Given the description of an element on the screen output the (x, y) to click on. 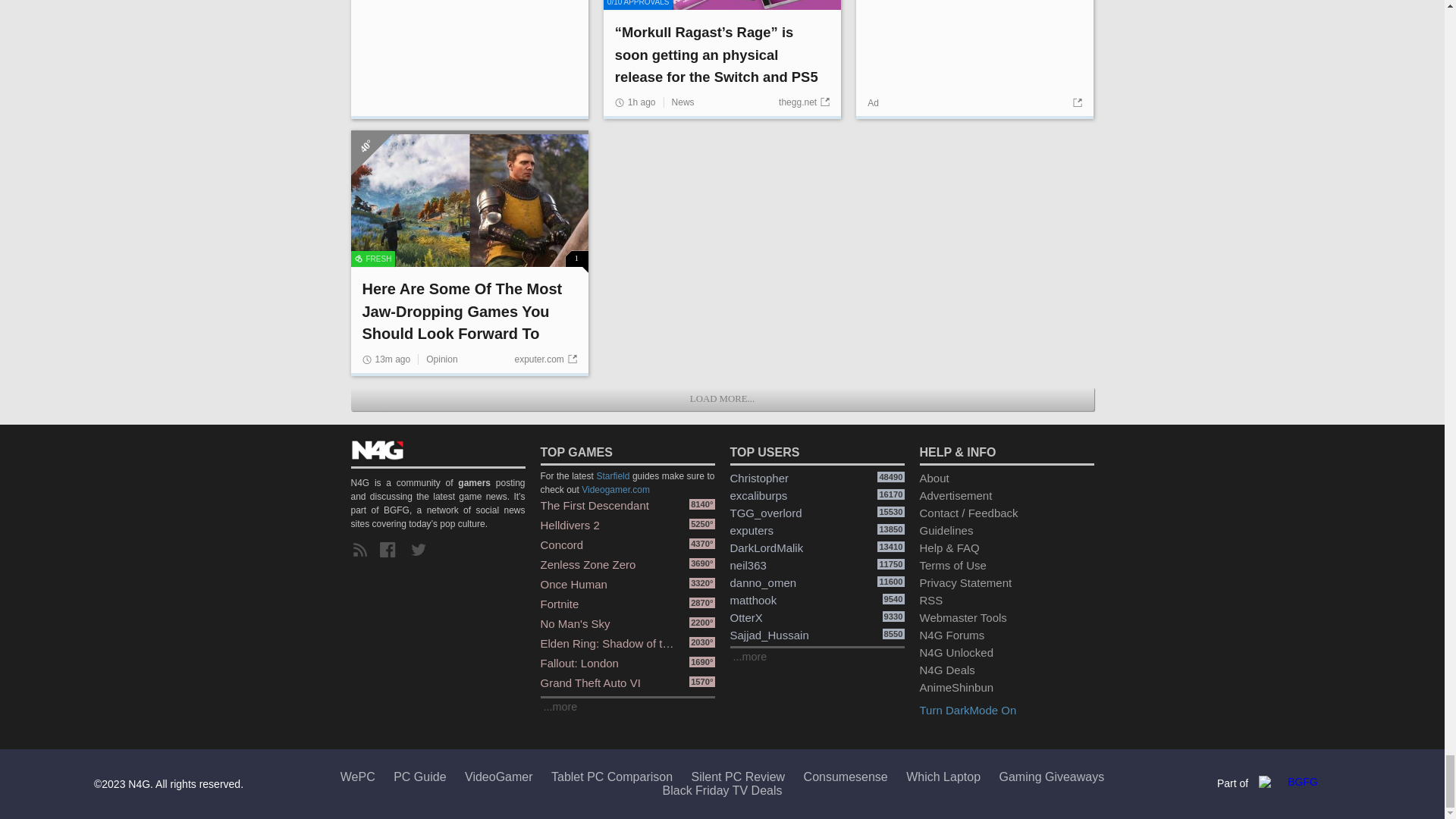
RSS Feed (362, 550)
Our facebook page (390, 550)
Our twitter page (421, 550)
Go to source (1074, 102)
Go to source: exputer.com (544, 358)
Go to source: thegg.net (803, 102)
